Given the description of an element on the screen output the (x, y) to click on. 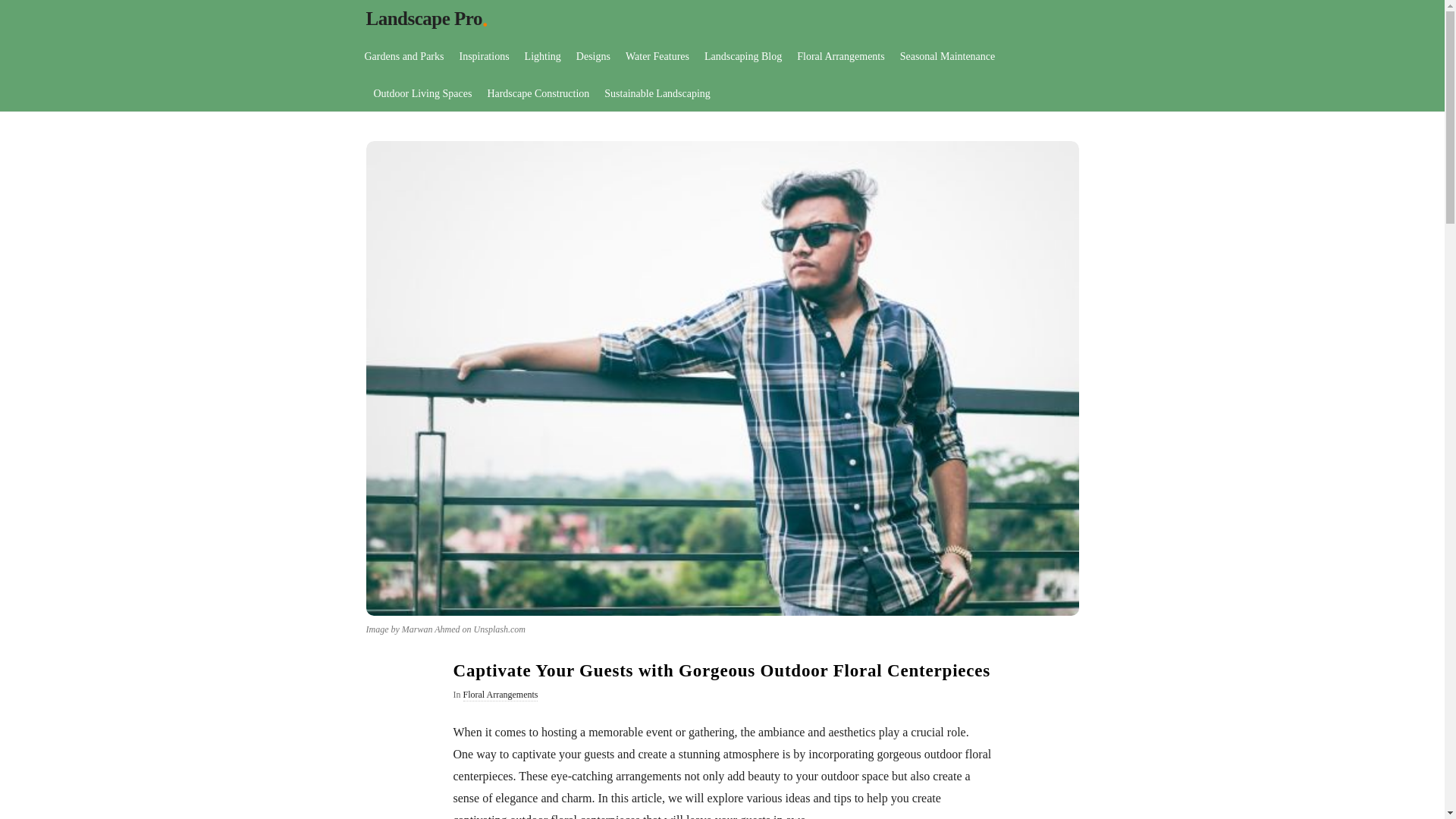
Landscaping Blog (743, 55)
Sustainable Landscaping (656, 92)
Gardens and Parks (403, 55)
Water Features (657, 55)
Floral Arrangements (500, 695)
Inspirations (483, 55)
Designs (593, 55)
Floral Arrangements (840, 55)
Outdoor Living Spaces (422, 92)
Hardscape Construction (537, 92)
Landscape Pro (423, 18)
Lighting (542, 55)
Seasonal Maintenance (947, 55)
Landscape Pro (423, 18)
